Given the description of an element on the screen output the (x, y) to click on. 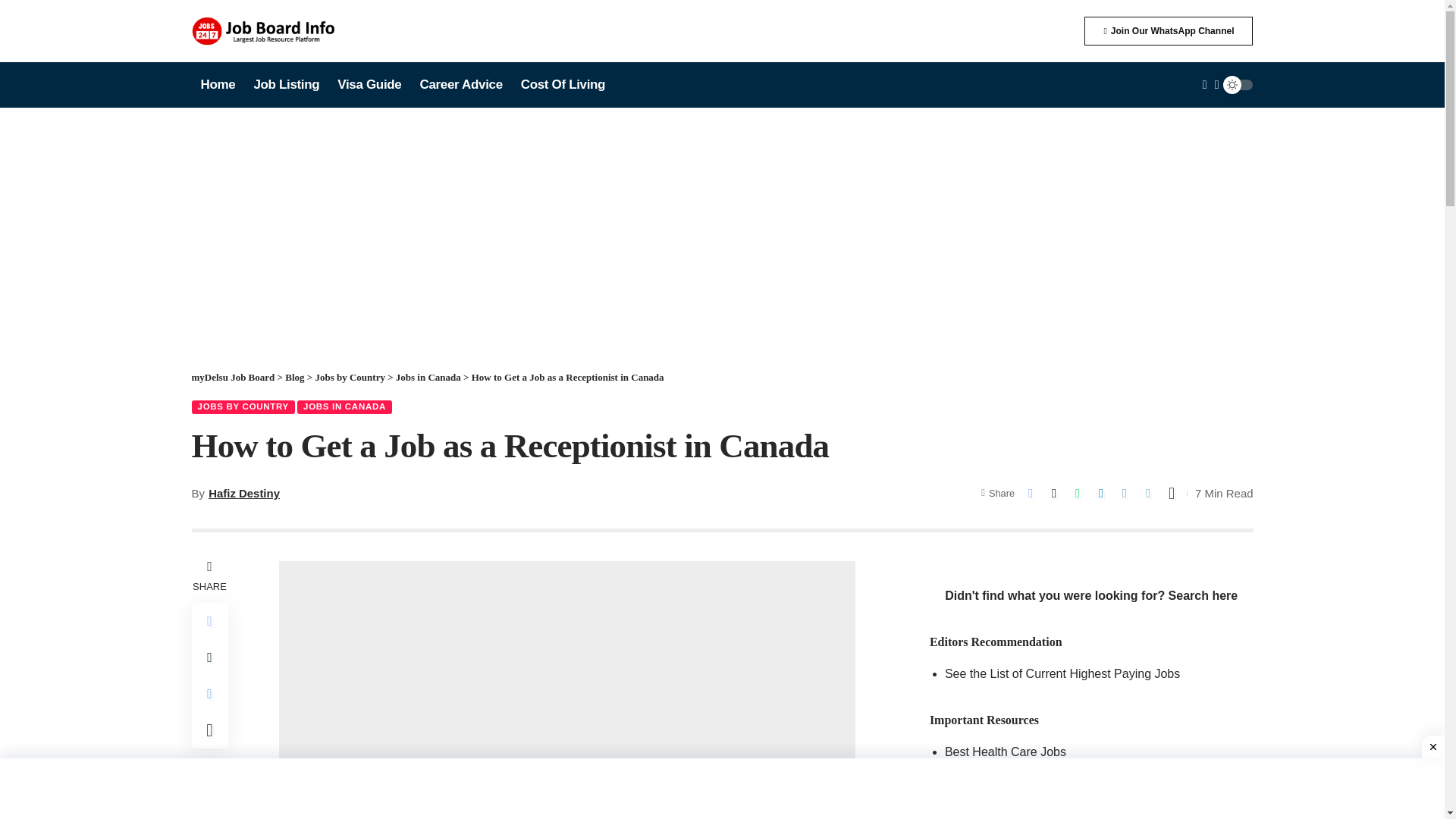
Career Advice (460, 84)
JOBS IN CANADA (344, 407)
Jobs by Country (349, 377)
Jobs in Canada (428, 377)
JOBS BY COUNTRY (242, 407)
Job Listing (286, 84)
Go to myDelsu Job Board. (232, 377)
Go to the Jobs in Canada Category archives. (428, 377)
Blog (294, 377)
Go to the Jobs by Country Category archives. (349, 377)
